Given the description of an element on the screen output the (x, y) to click on. 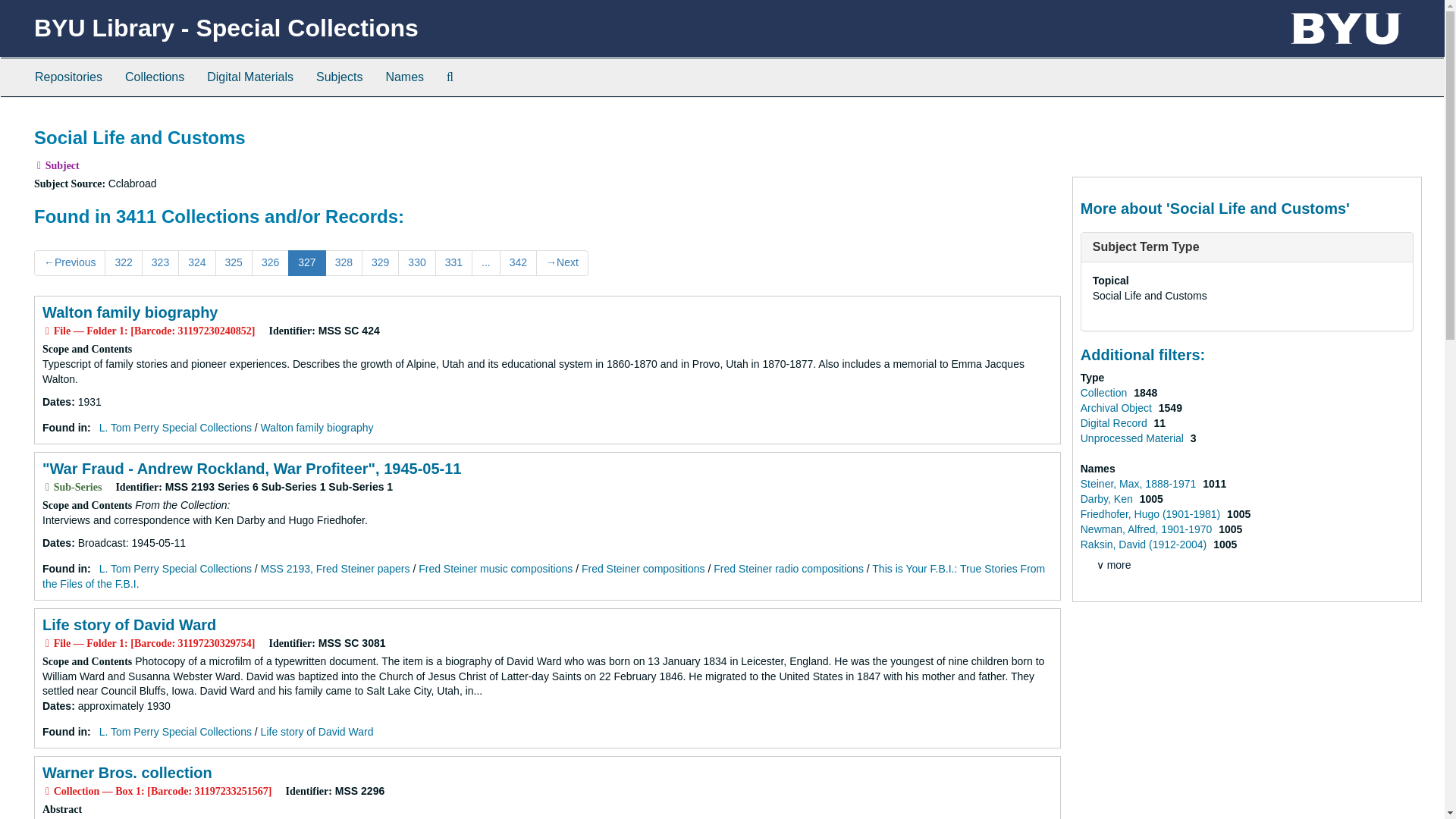
324 (196, 263)
Filter By 'Digital Record' (1115, 422)
"War Fraud - Andrew Rockland, War Profiteer", 1945-05-11 (251, 468)
translation missing: en.dates (56, 542)
Collections (154, 77)
Fred Steiner radio compositions (788, 568)
330 (416, 263)
Filter By 'Unprocessed Material' (1133, 438)
Warner Bros. collection (127, 772)
L. Tom Perry Special Collections (175, 731)
